Given the description of an element on the screen output the (x, y) to click on. 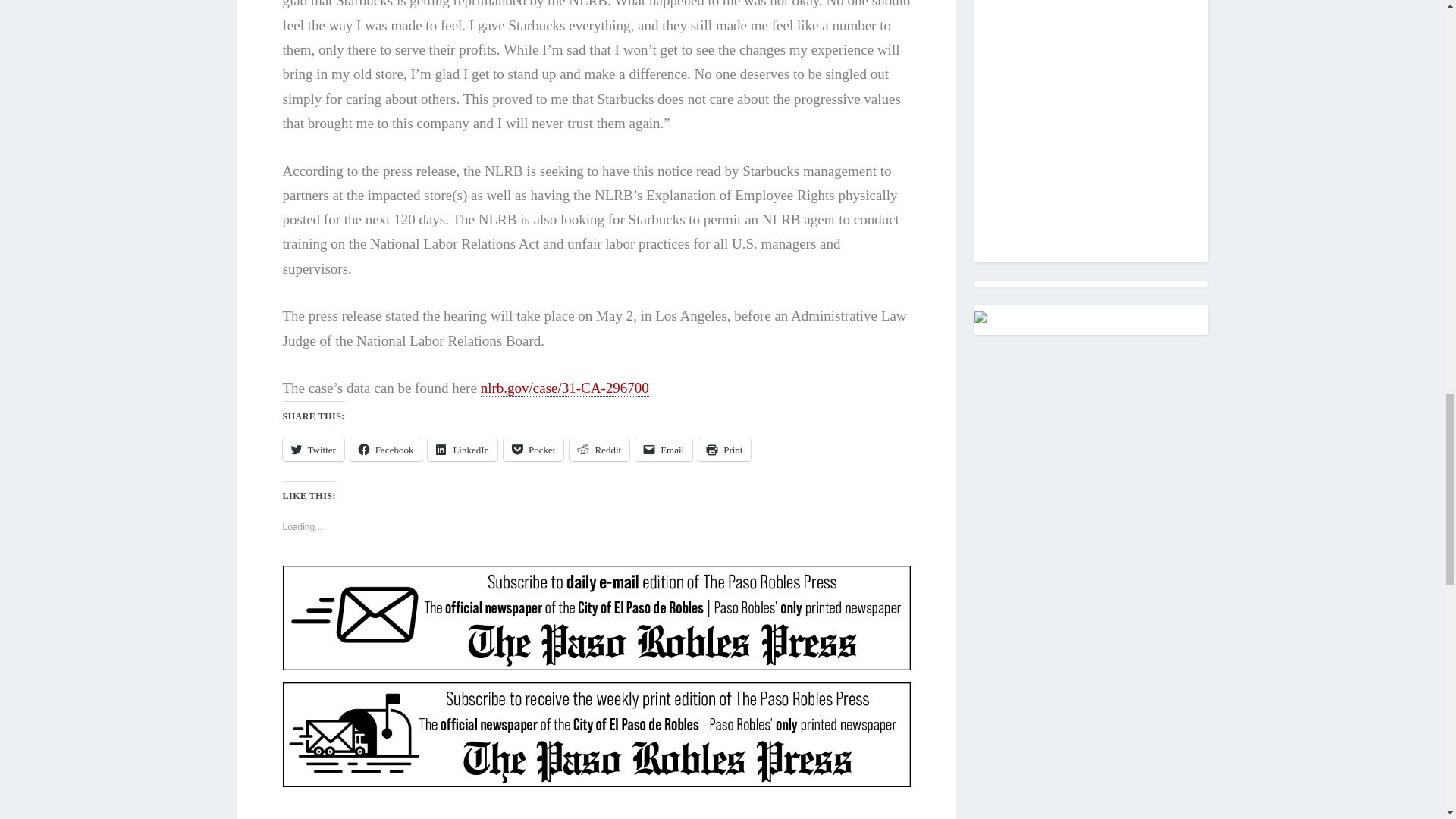
Print (724, 449)
Click to share on Facebook (386, 449)
Reddit (598, 449)
Click to print (724, 449)
Facebook (386, 449)
Email (663, 449)
Click to share on Twitter (312, 449)
Click to share on LinkedIn (462, 449)
LinkedIn (462, 449)
Twitter (312, 449)
Click to share on Pocket (533, 449)
Click to email a link to a friend (663, 449)
Click to share on Reddit (598, 449)
Pocket (533, 449)
